Given the description of an element on the screen output the (x, y) to click on. 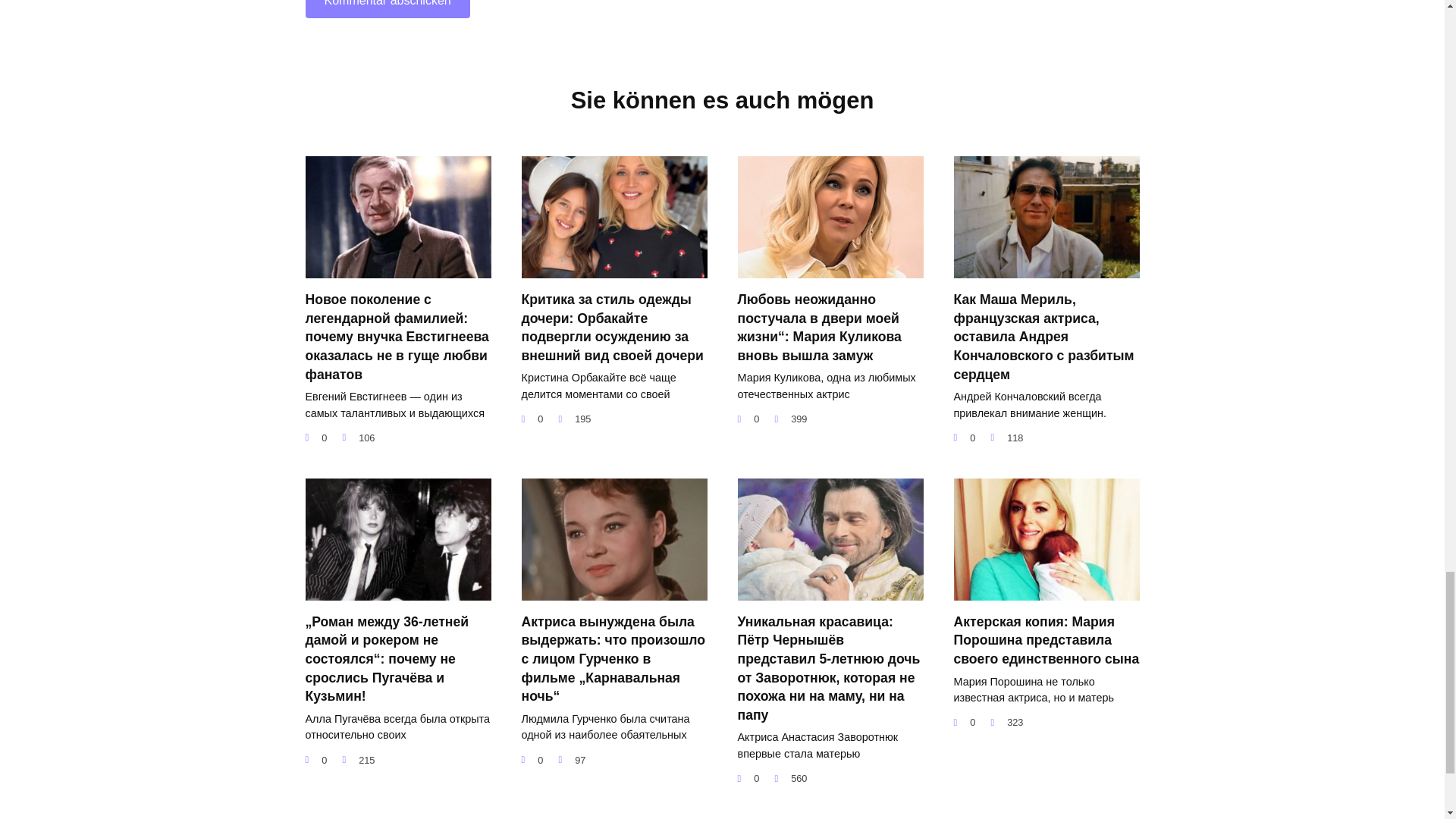
Kommentar abschicken (386, 9)
Kommentar abschicken (386, 9)
